Given the description of an element on the screen output the (x, y) to click on. 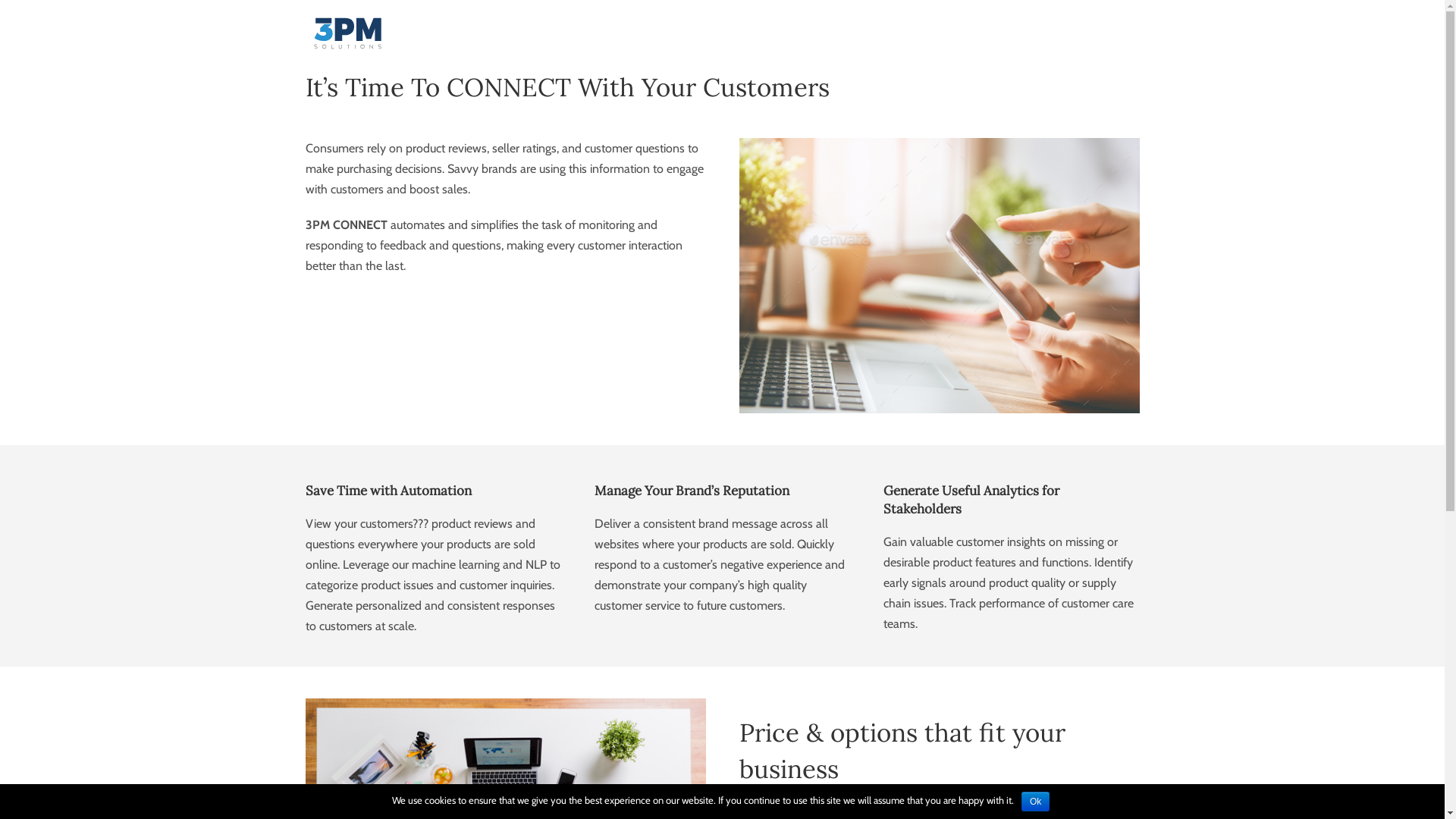
Ok Element type: text (1035, 801)
reviewing Element type: hover (938, 275)
